Given the description of an element on the screen output the (x, y) to click on. 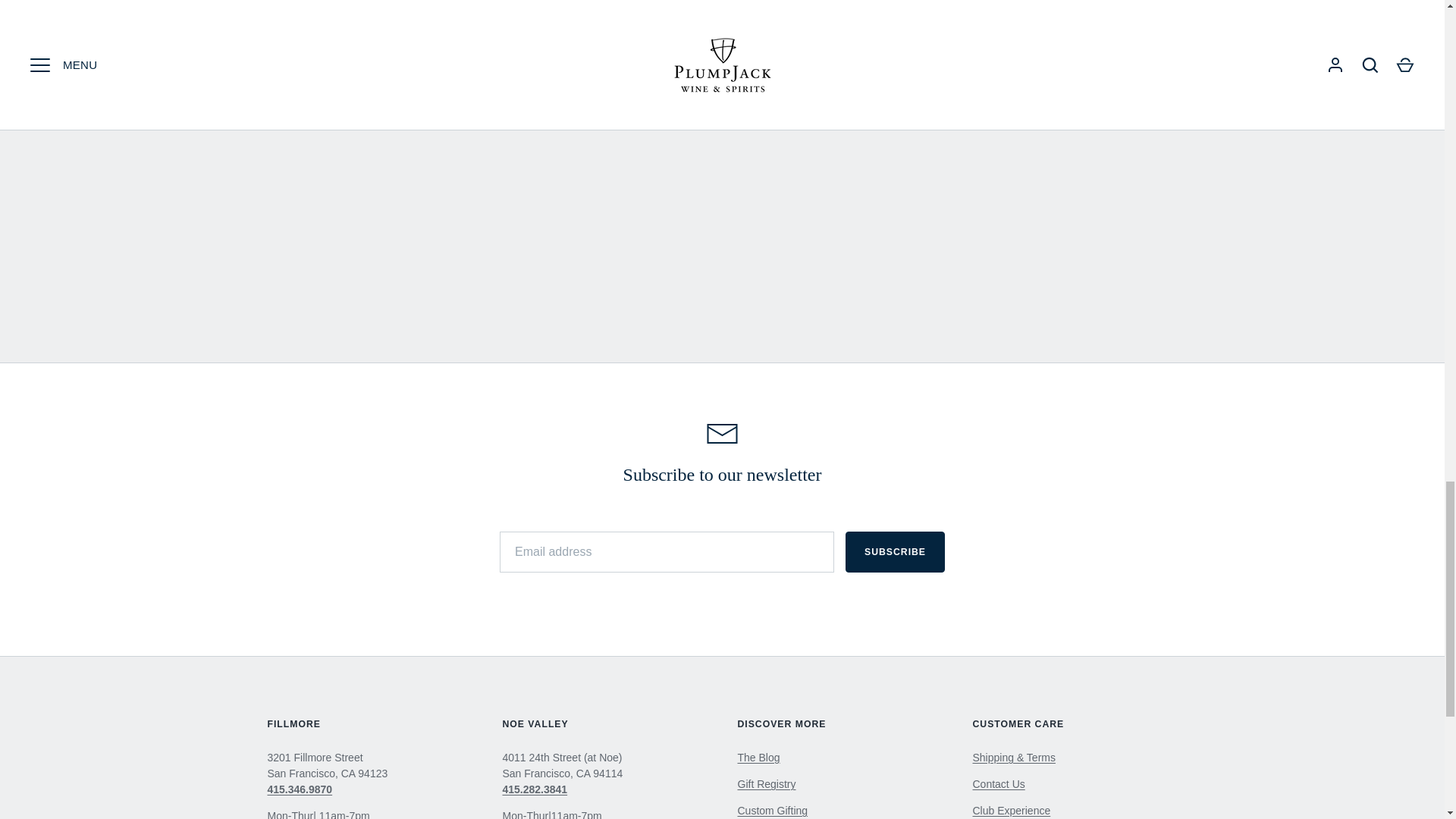
tel:415.346.9870 (298, 788)
Email (722, 433)
Gift Registry (765, 784)
Club Experience (1010, 810)
Club Corner (757, 757)
Visit Us (998, 784)
tel:415.282.3841 (534, 788)
